Given the description of an element on the screen output the (x, y) to click on. 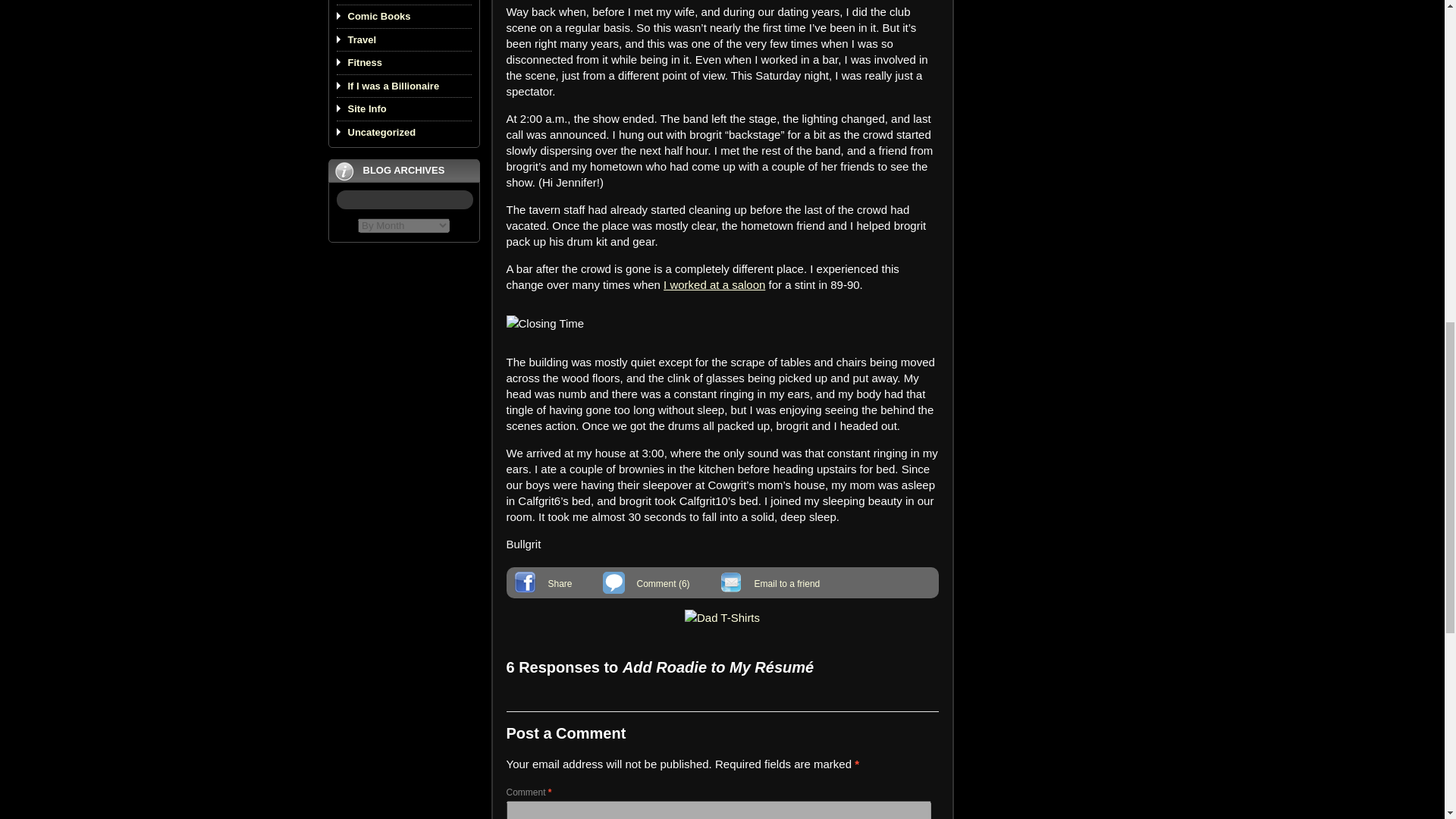
Site Info (366, 108)
Travel (361, 39)
Fitness (364, 61)
Uncategorized (380, 131)
If I was a Billionaire (393, 85)
Closing Time (545, 323)
Comic Books (378, 16)
